Given the description of an element on the screen output the (x, y) to click on. 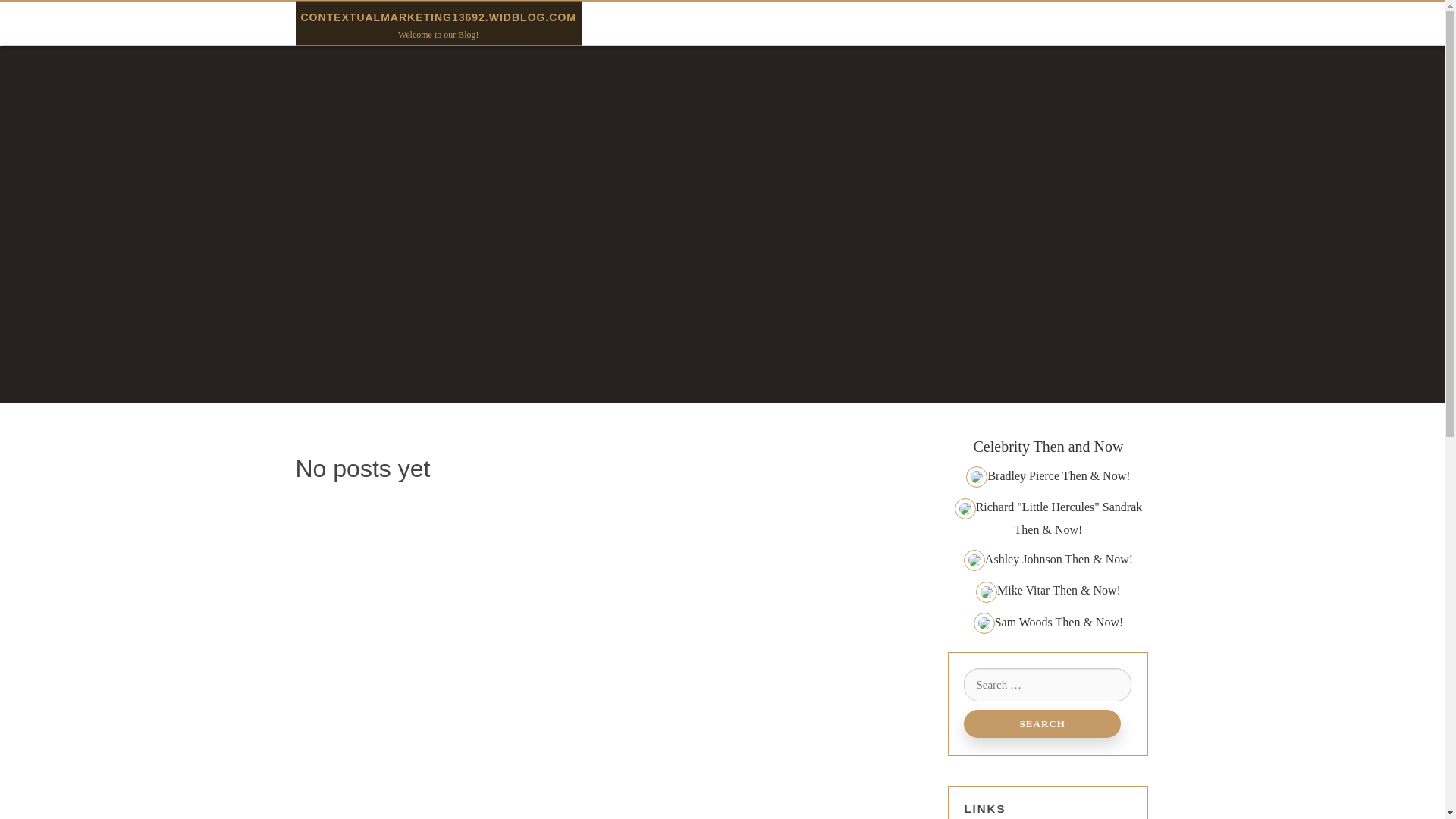
Skip to content (37, 10)
Search (1041, 723)
CONTEXTUALMARKETING13692.WIDBLOG.COM (437, 16)
Search (1041, 723)
Search (1041, 723)
